Given the description of an element on the screen output the (x, y) to click on. 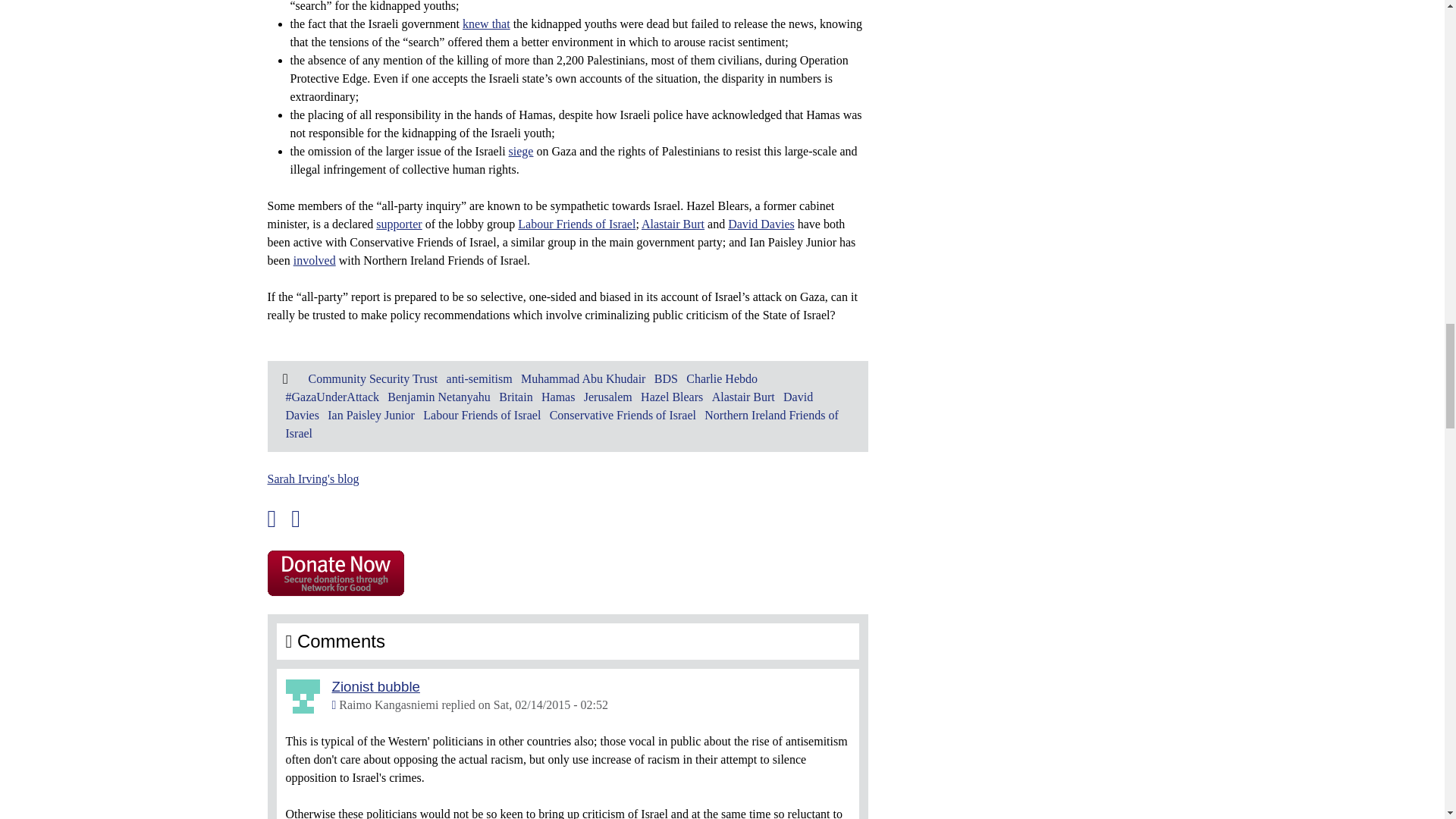
David Davies (761, 223)
supporter (398, 223)
Read Sarah Irving's latest blog entries. (312, 478)
Labour Friends of Israel (576, 223)
Alastair Burt (673, 223)
siege (521, 151)
knew that (487, 23)
